Given the description of an element on the screen output the (x, y) to click on. 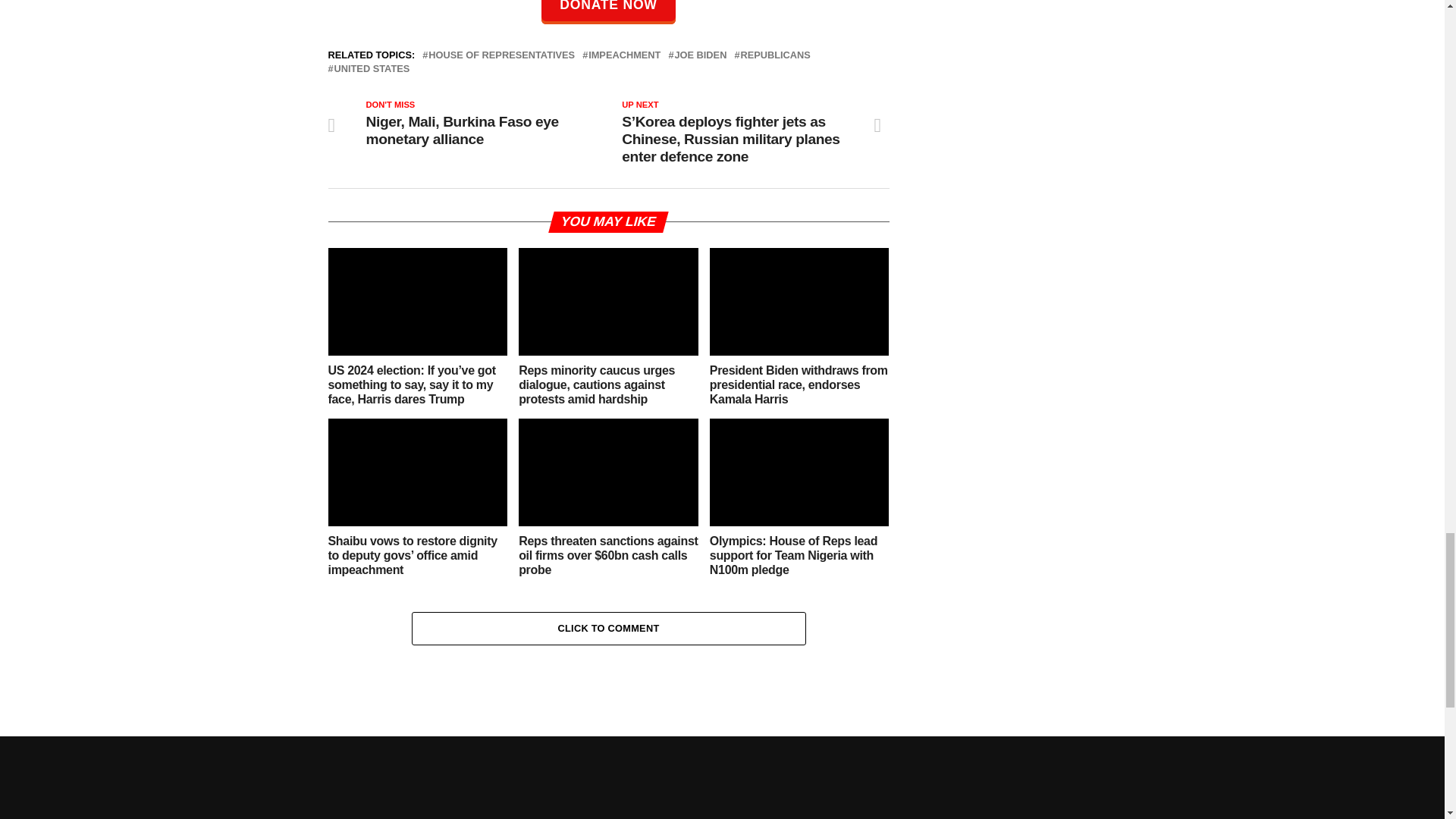
Advertisement (1055, 113)
Advertisement (721, 781)
